Given the description of an element on the screen output the (x, y) to click on. 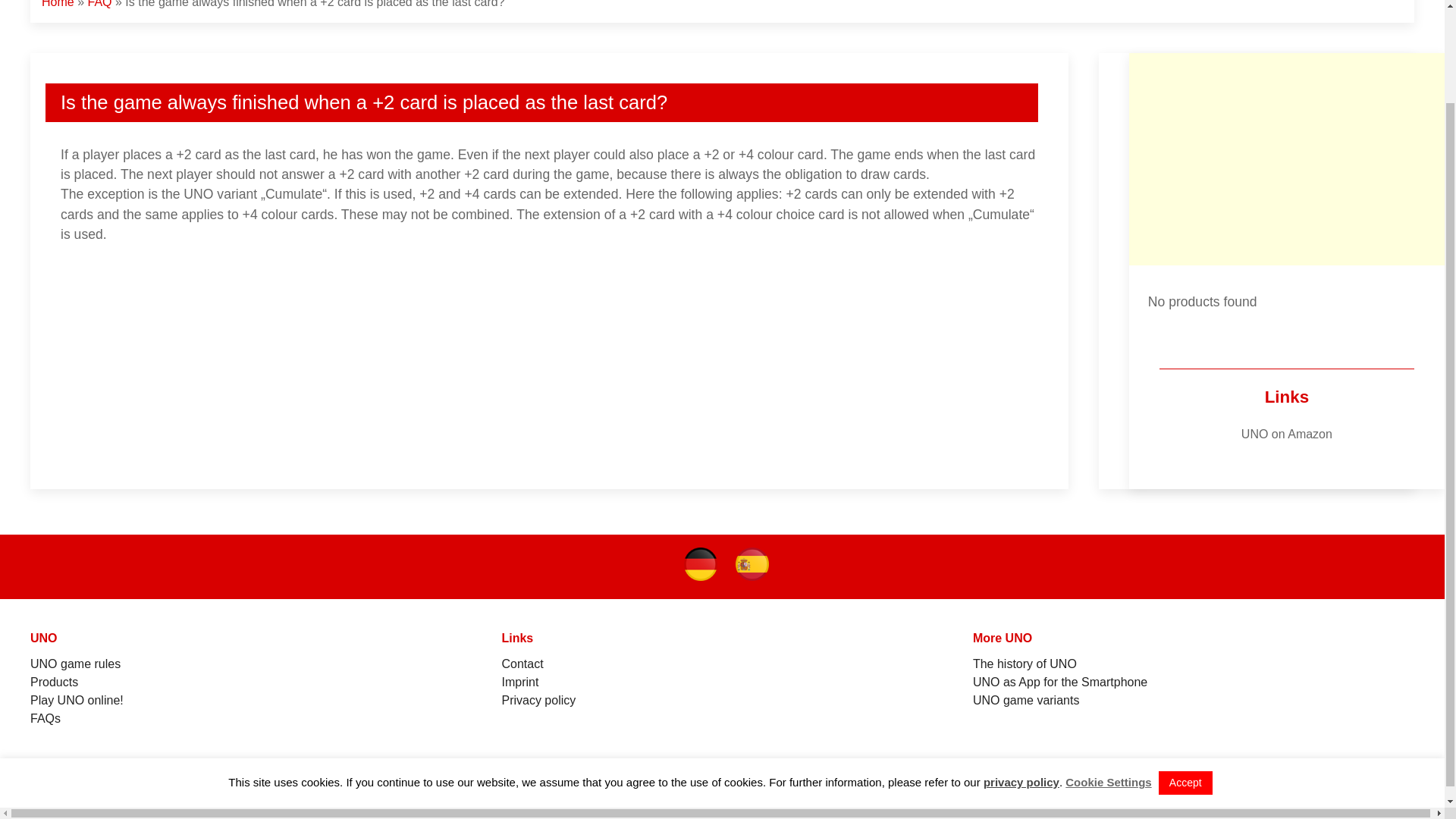
Contact (521, 663)
Play UNO online! (76, 699)
UNO as App for the Smartphone (1059, 681)
The history of UNO (1024, 663)
UNO on Amazon (1286, 433)
Products (54, 681)
Home (58, 4)
UNO game variants (1026, 699)
privacy policy (1021, 672)
FAQ (99, 4)
UNO game rules (75, 663)
Privacy policy (537, 699)
Cookie Settings (1108, 672)
FAQs (45, 717)
Imprint (519, 681)
